Given the description of an element on the screen output the (x, y) to click on. 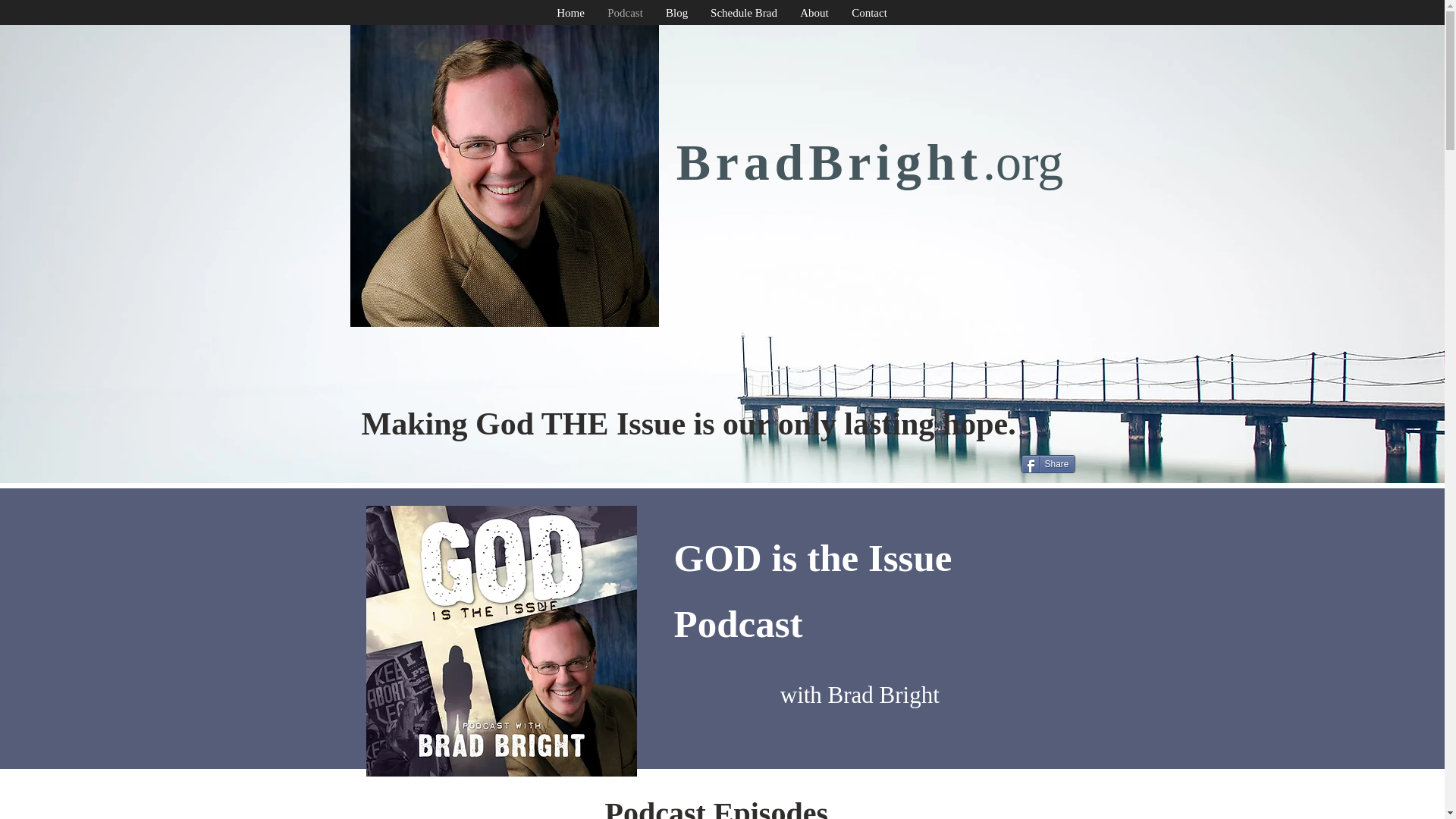
Contact (869, 13)
Share (1047, 464)
Blog (675, 13)
Home (569, 13)
BradBright (829, 161)
About (814, 13)
Podcast (624, 13)
Schedule Brad (743, 13)
Share (1047, 464)
